Given the description of an element on the screen output the (x, y) to click on. 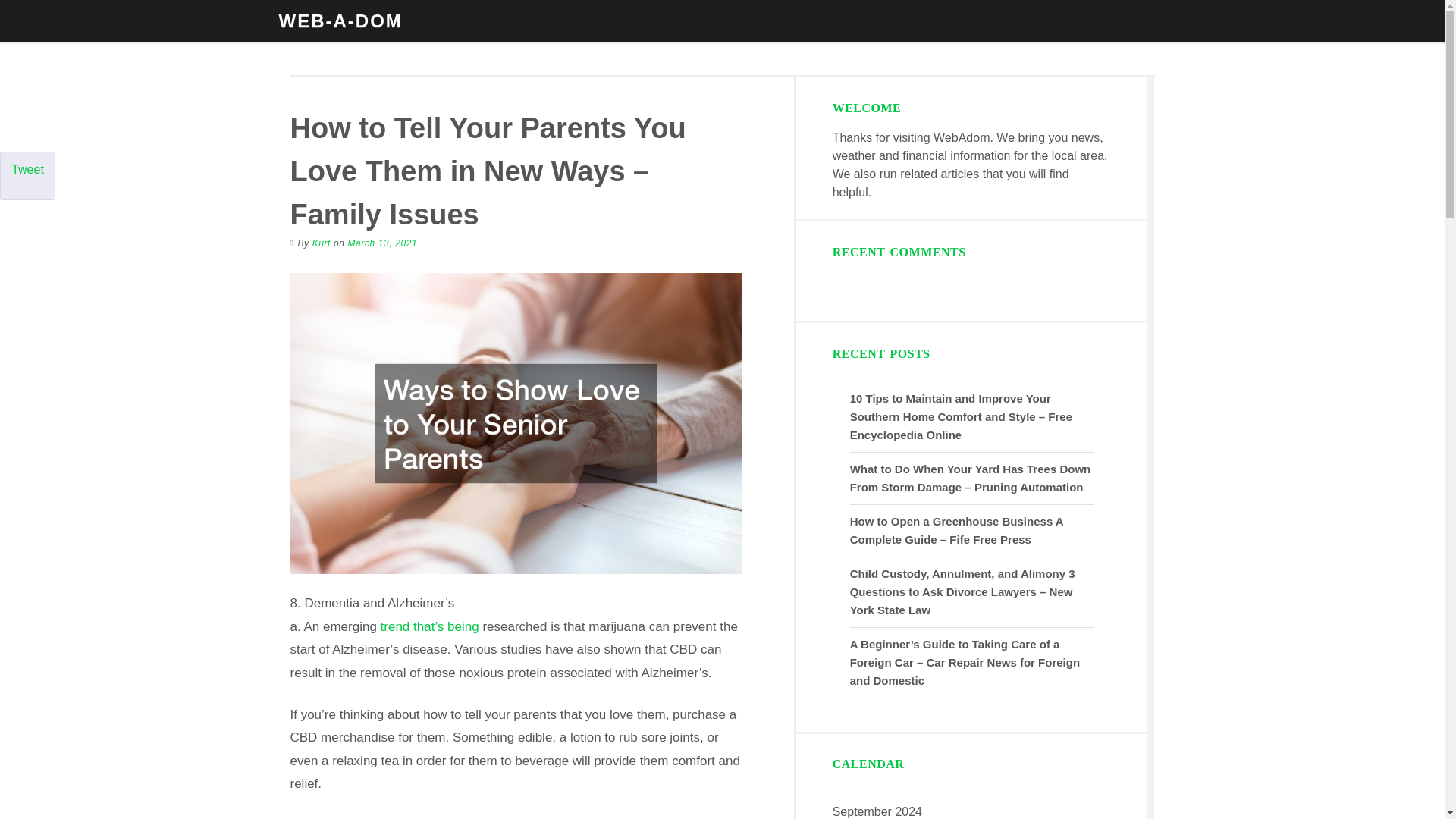
View all posts by Kurt (321, 243)
March 13, 2021 (381, 243)
Kurt (321, 243)
WEB-A-DOM (341, 20)
